Given the description of an element on the screen output the (x, y) to click on. 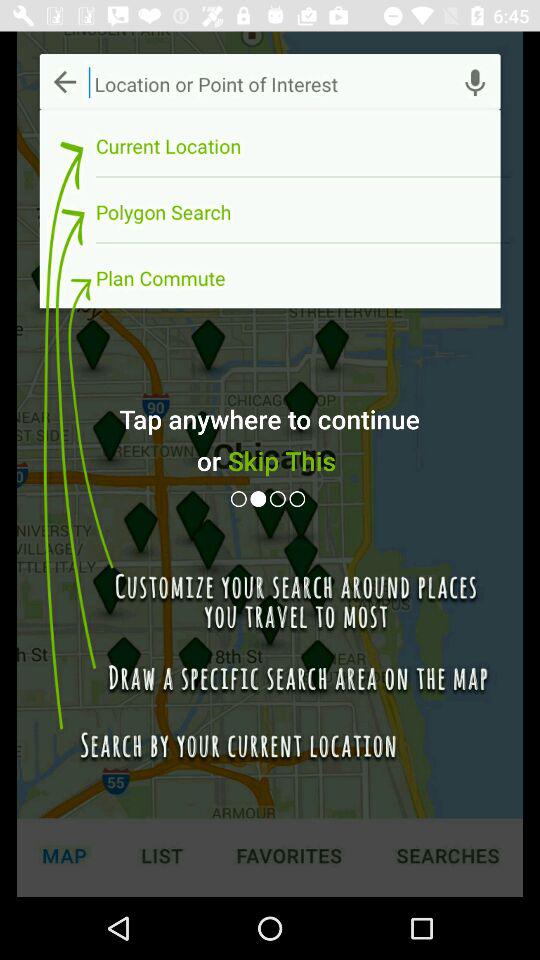
next button (279, 498)
